Given the description of an element on the screen output the (x, y) to click on. 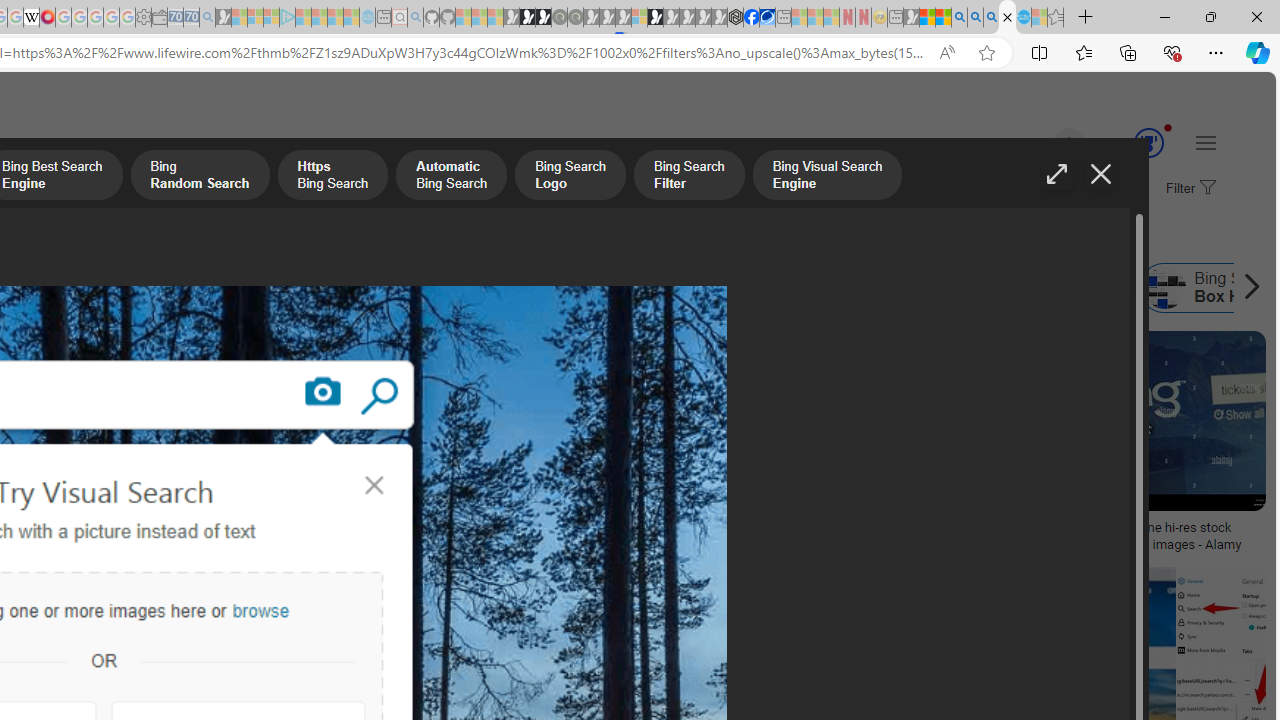
Bing Search Engine Homepage (658, 287)
Bing T-Shirts (132, 400)
Bing Home Search Site (1051, 287)
